Given the description of an element on the screen output the (x, y) to click on. 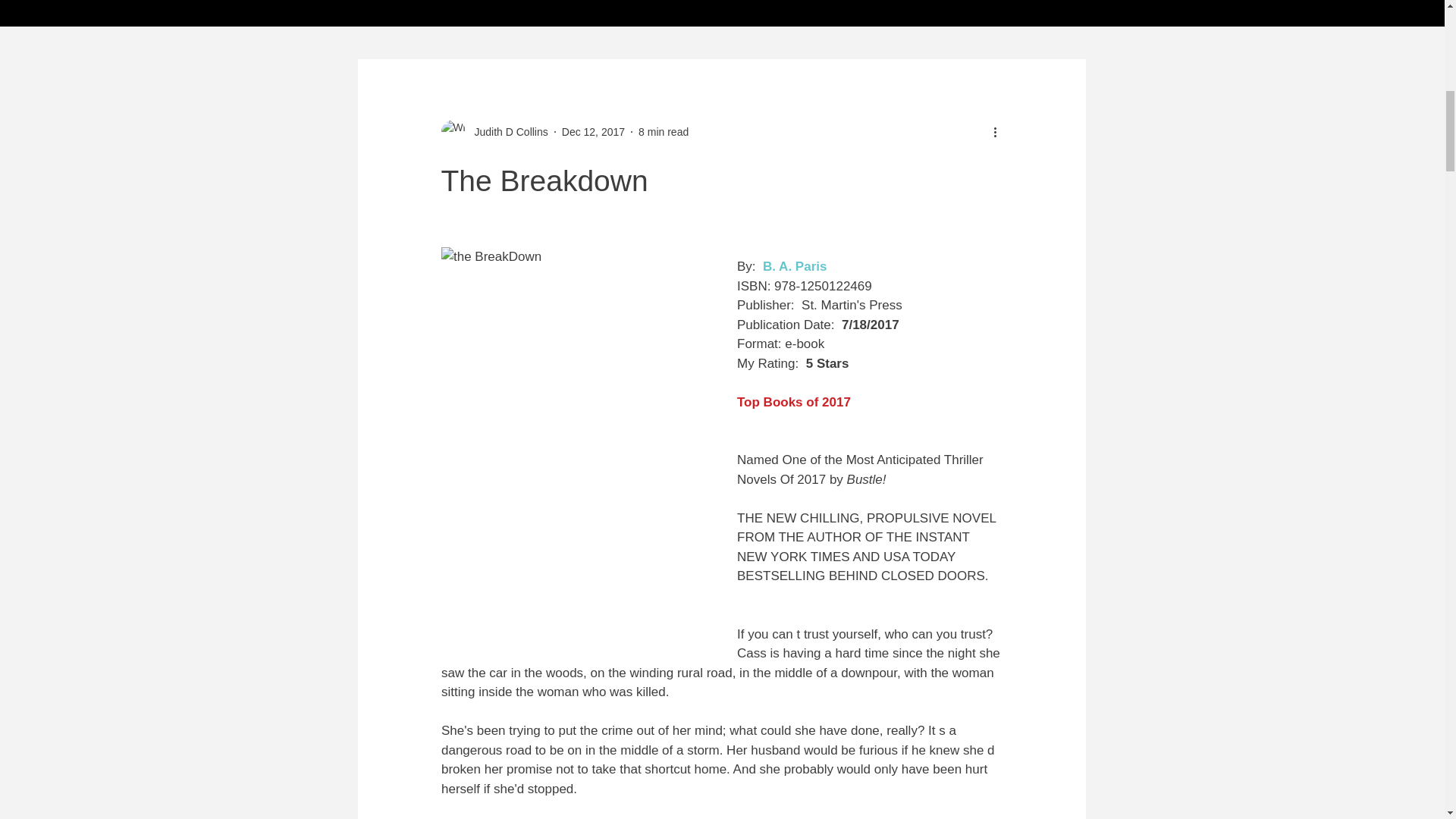
Judith D Collins (506, 132)
Dec 12, 2017 (593, 132)
8 min read (663, 132)
